Given the description of an element on the screen output the (x, y) to click on. 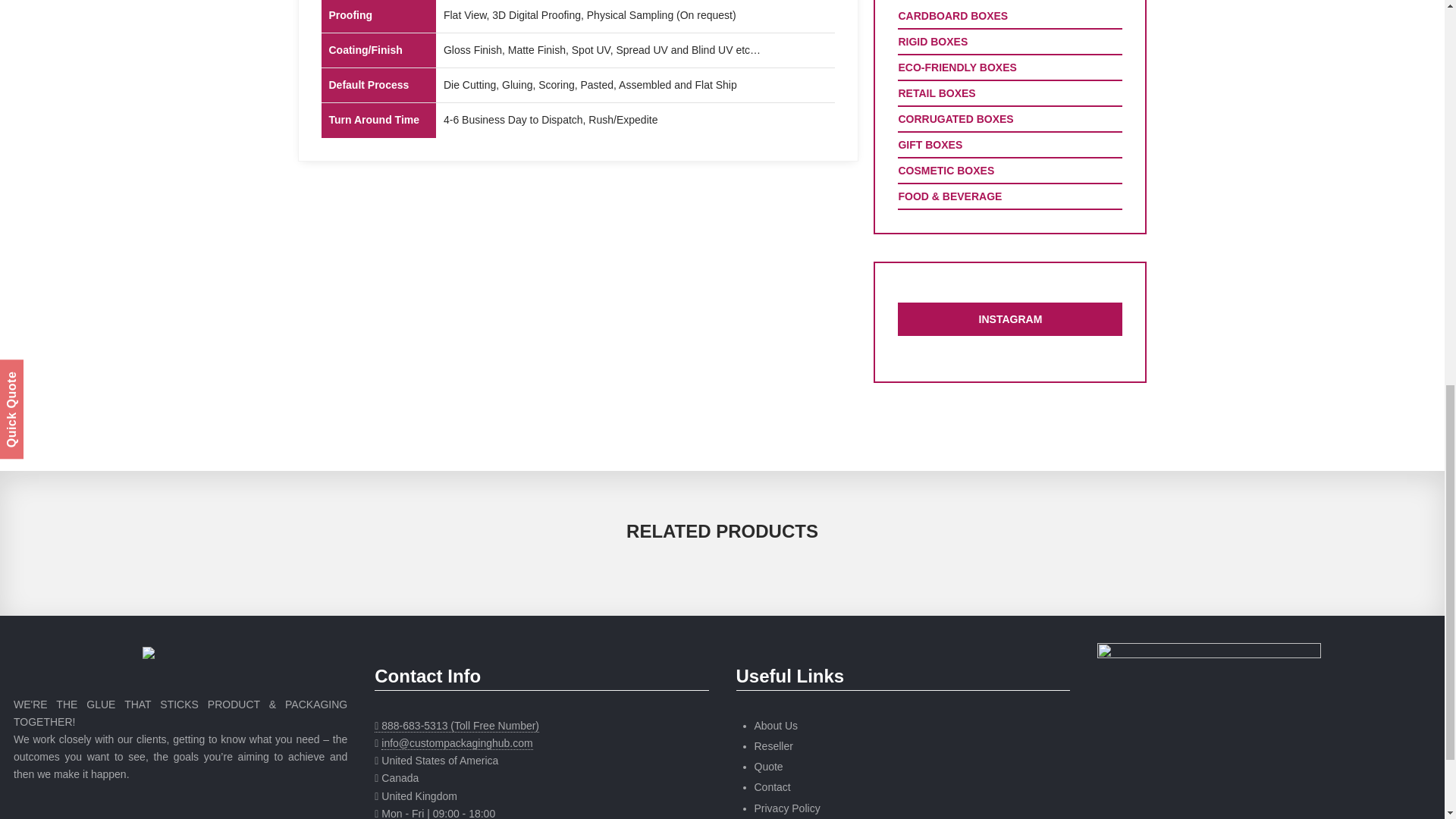
Reseller (773, 746)
About Us (775, 725)
Quote (768, 766)
